Given the description of an element on the screen output the (x, y) to click on. 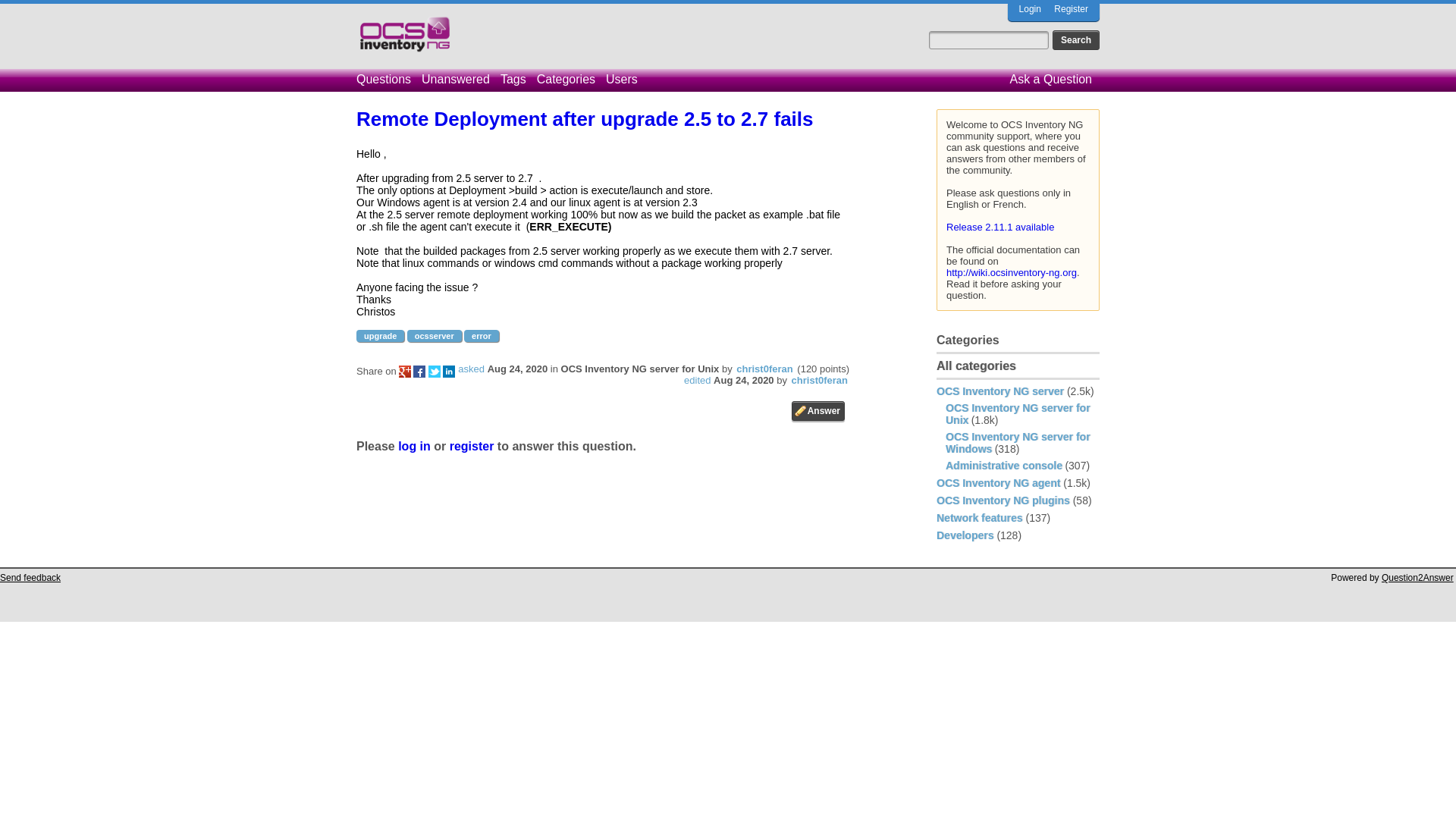
ocsserver (434, 336)
share on gp (404, 371)
Register (1070, 9)
Unanswered (459, 78)
upgrade (380, 336)
asked (471, 368)
Users (625, 78)
Tags (517, 78)
Remote Deployment after upgrade 2.5 to 2.7 fails (584, 118)
Search (1075, 39)
